Given the description of an element on the screen output the (x, y) to click on. 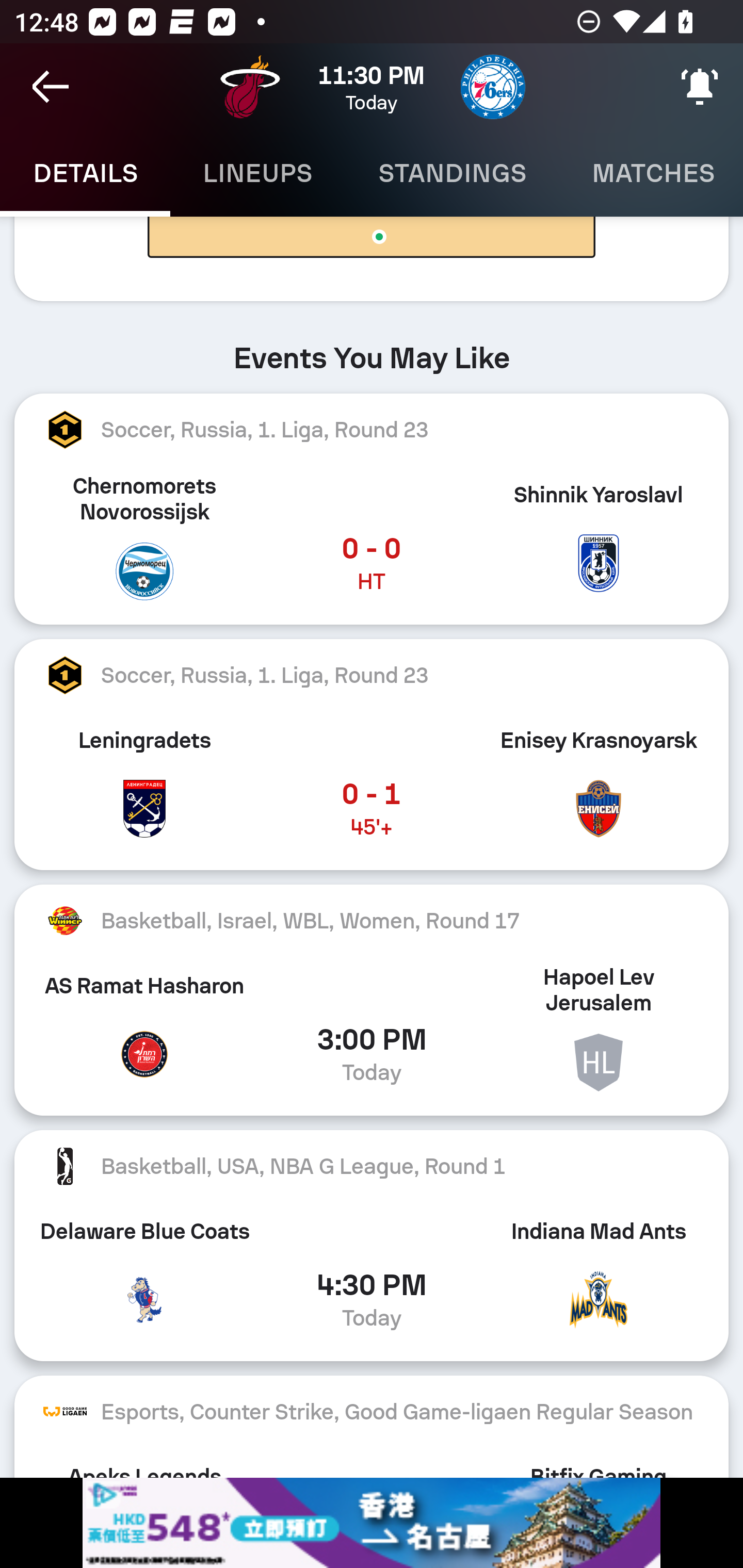
Navigate up (50, 86)
Lineups LINEUPS (257, 173)
Standings STANDINGS (451, 173)
Matches MATCHES (650, 173)
Events You May Like (371, 350)
Soccer, Russia, 1. Liga, Round 23 (371, 429)
Soccer, Russia, 1. Liga, Round 23 (371, 675)
Basketball, Israel, WBL, Women, Round 17 (371, 920)
Basketball, USA, NBA G League, Round 1 (371, 1166)
ysfecx5i_320x50 (371, 1522)
